Given the description of an element on the screen output the (x, y) to click on. 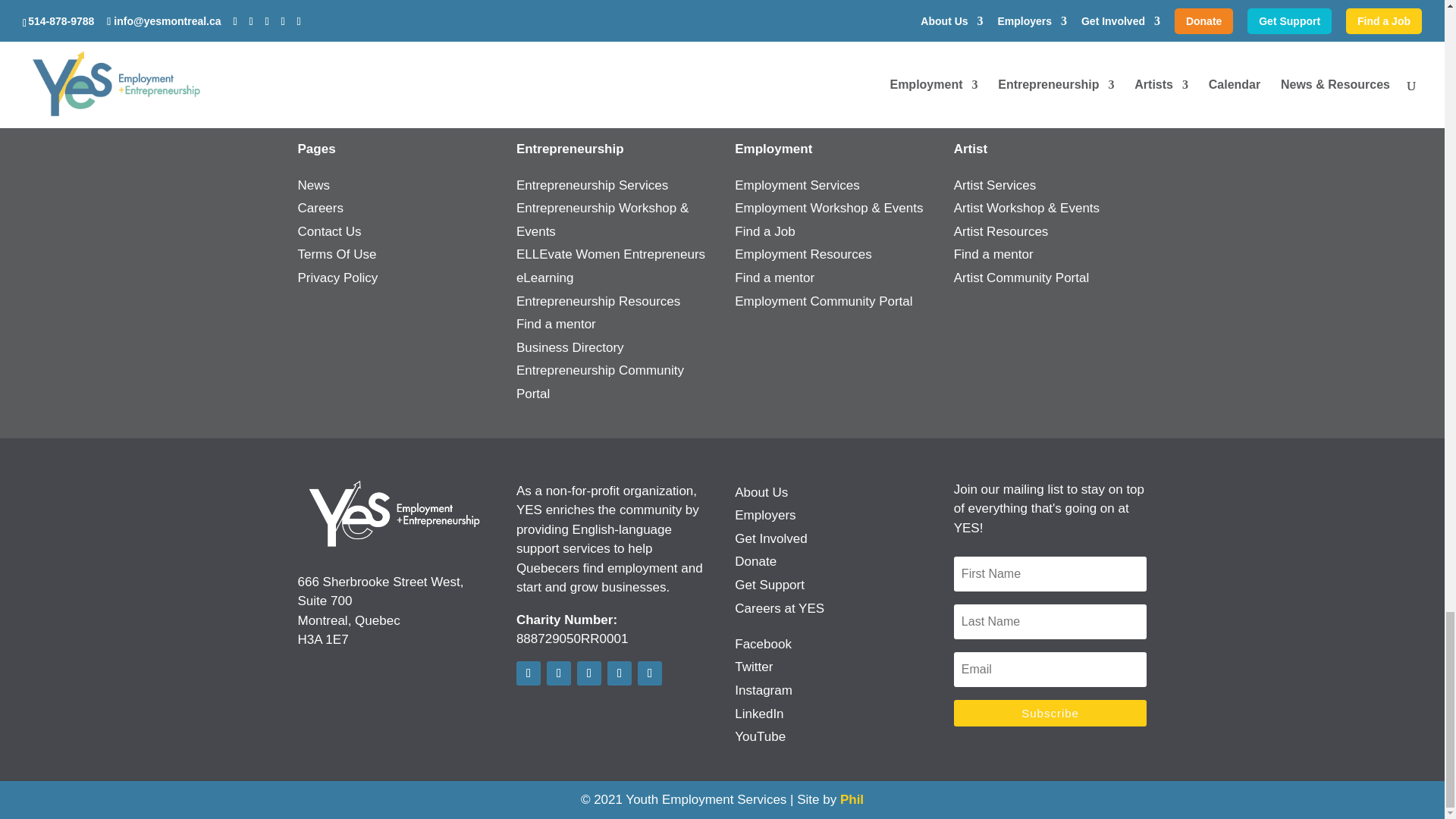
Follow on X (558, 672)
YesLogo-FullName-White (393, 515)
Follow on Instagram (588, 672)
Follow on LinkedIn (619, 672)
Follow on Youtube (649, 672)
Follow on Facebook (528, 672)
